Given the description of an element on the screen output the (x, y) to click on. 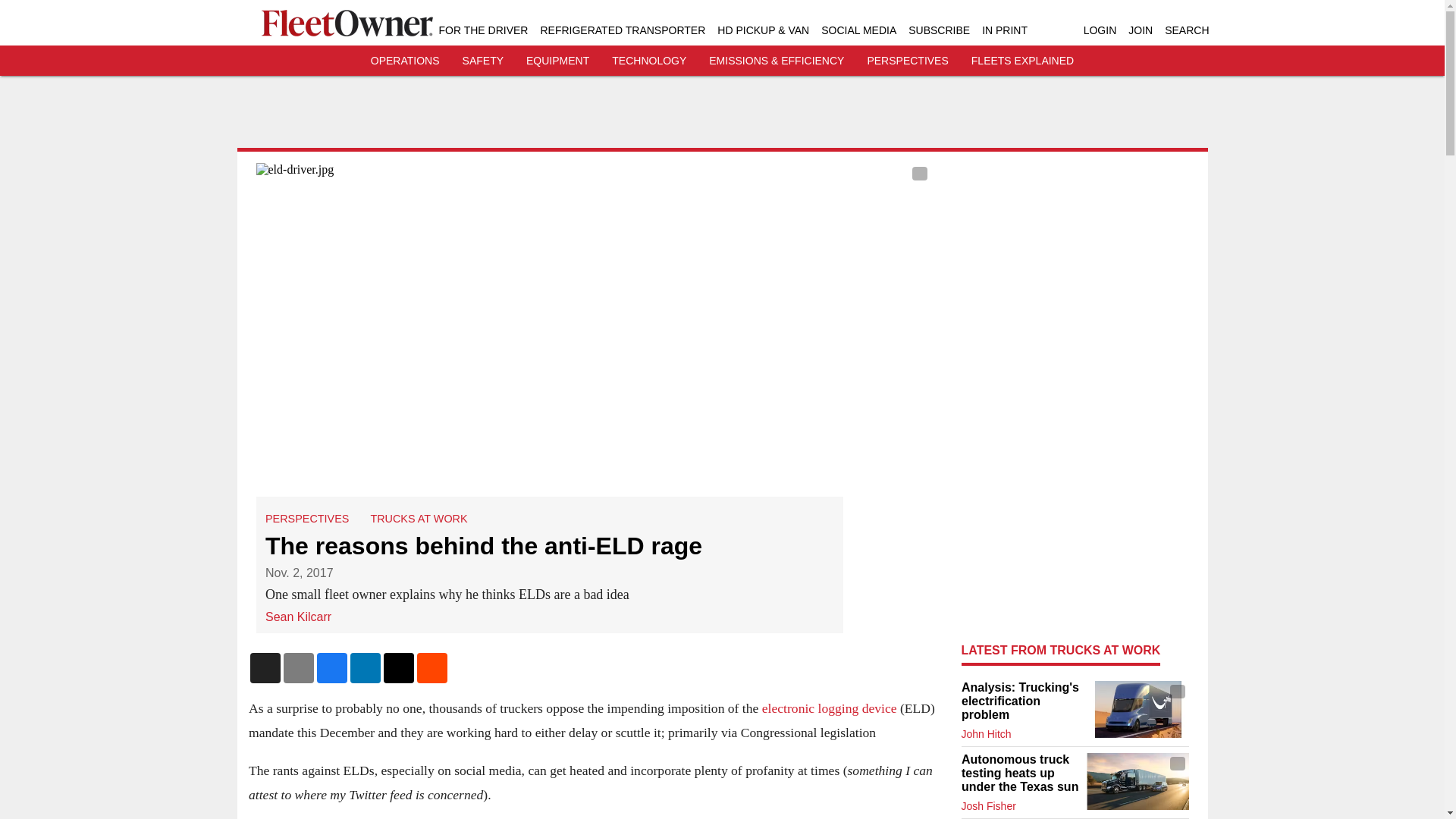
TECHNOLOGY (648, 60)
IN PRINT (1004, 30)
PERSPECTIVES (906, 60)
LOGIN (1099, 30)
SEARCH (1186, 30)
OPERATIONS (405, 60)
EQUIPMENT (557, 60)
FLEETS EXPLAINED (1022, 60)
Press Aurora Truck Pacifica (1137, 780)
